Given the description of an element on the screen output the (x, y) to click on. 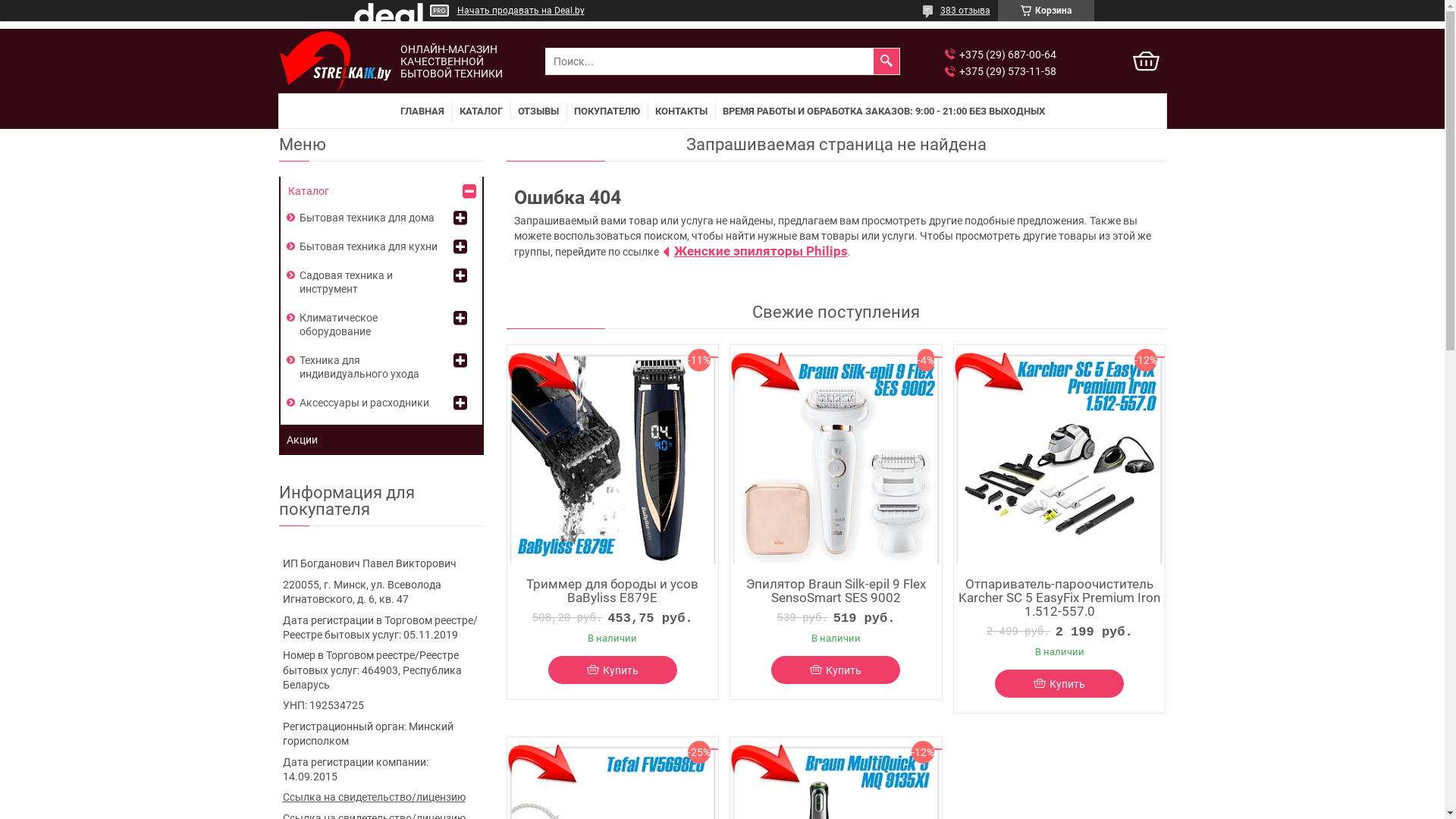
-4% Element type: text (835, 457)
-12% Element type: text (1058, 457)
-11% Element type: text (612, 457)
